Given the description of an element on the screen output the (x, y) to click on. 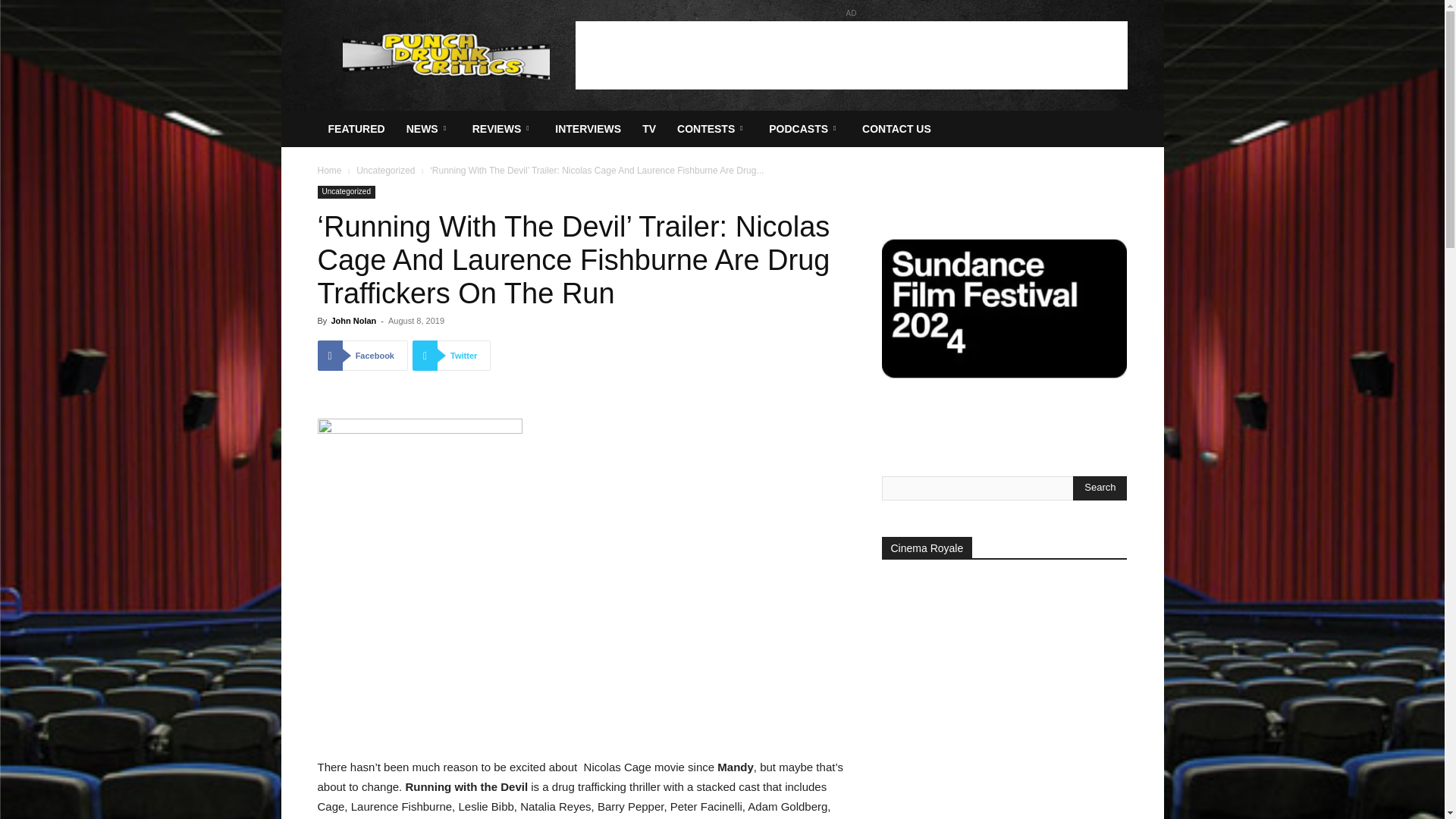
Twitter (451, 355)
REVIEWS (502, 128)
Facebook (362, 355)
View all posts in Uncategorized (385, 170)
NEWS (428, 128)
FEATURED (355, 128)
Advertisement (850, 55)
Search (1099, 487)
